Given the description of an element on the screen output the (x, y) to click on. 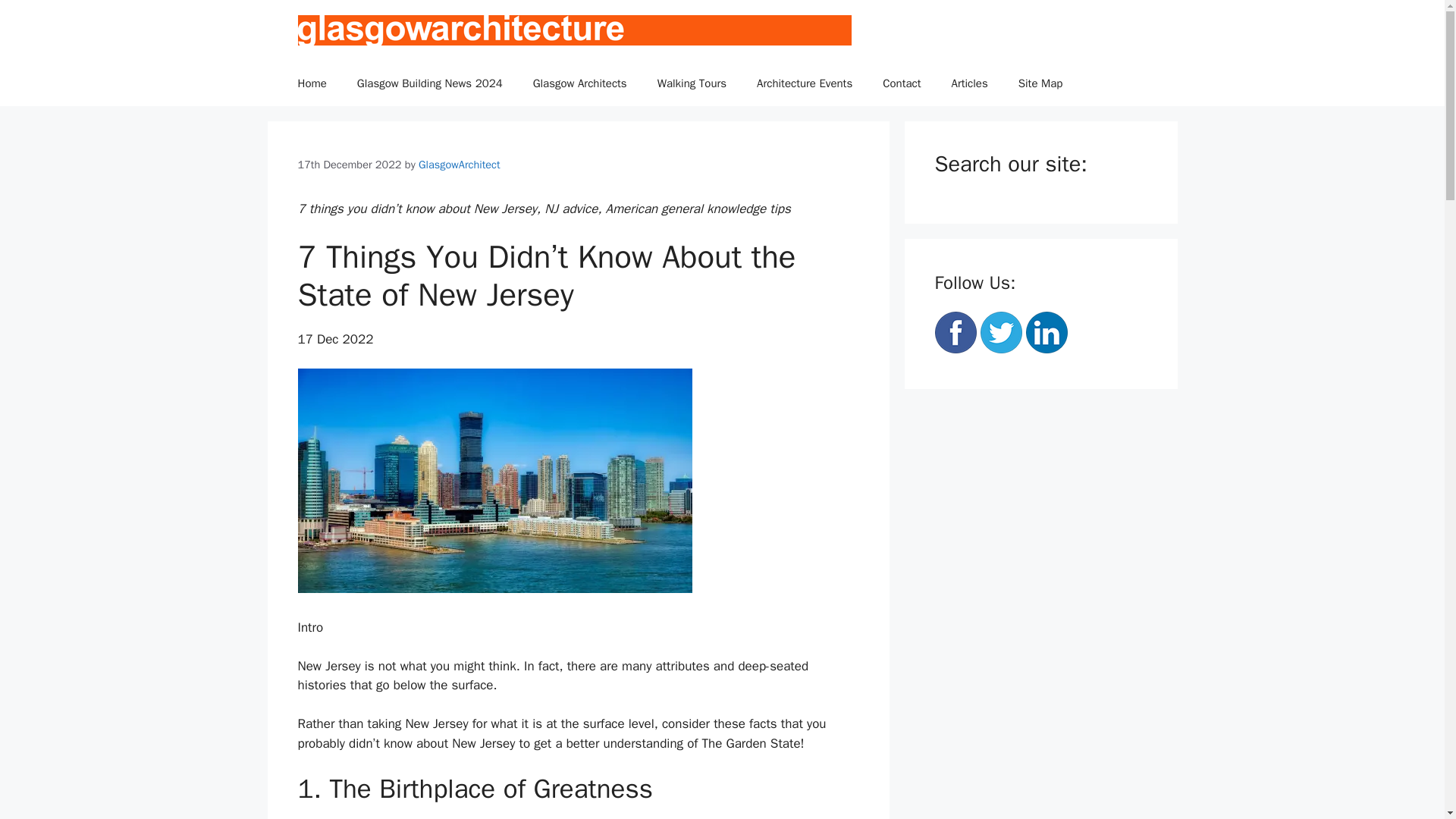
linkedin (1046, 332)
facebook (954, 332)
View all posts by GlasgowArchitect (459, 164)
twitter (1000, 332)
Glasgow Architects (580, 83)
Contact (901, 83)
Architecture Events (804, 83)
GlasgowArchitect (459, 164)
Home (311, 83)
Walking Tours (691, 83)
Articles (969, 83)
Glasgow Building News 2024 (430, 83)
Site Map (1040, 83)
